Given the description of an element on the screen output the (x, y) to click on. 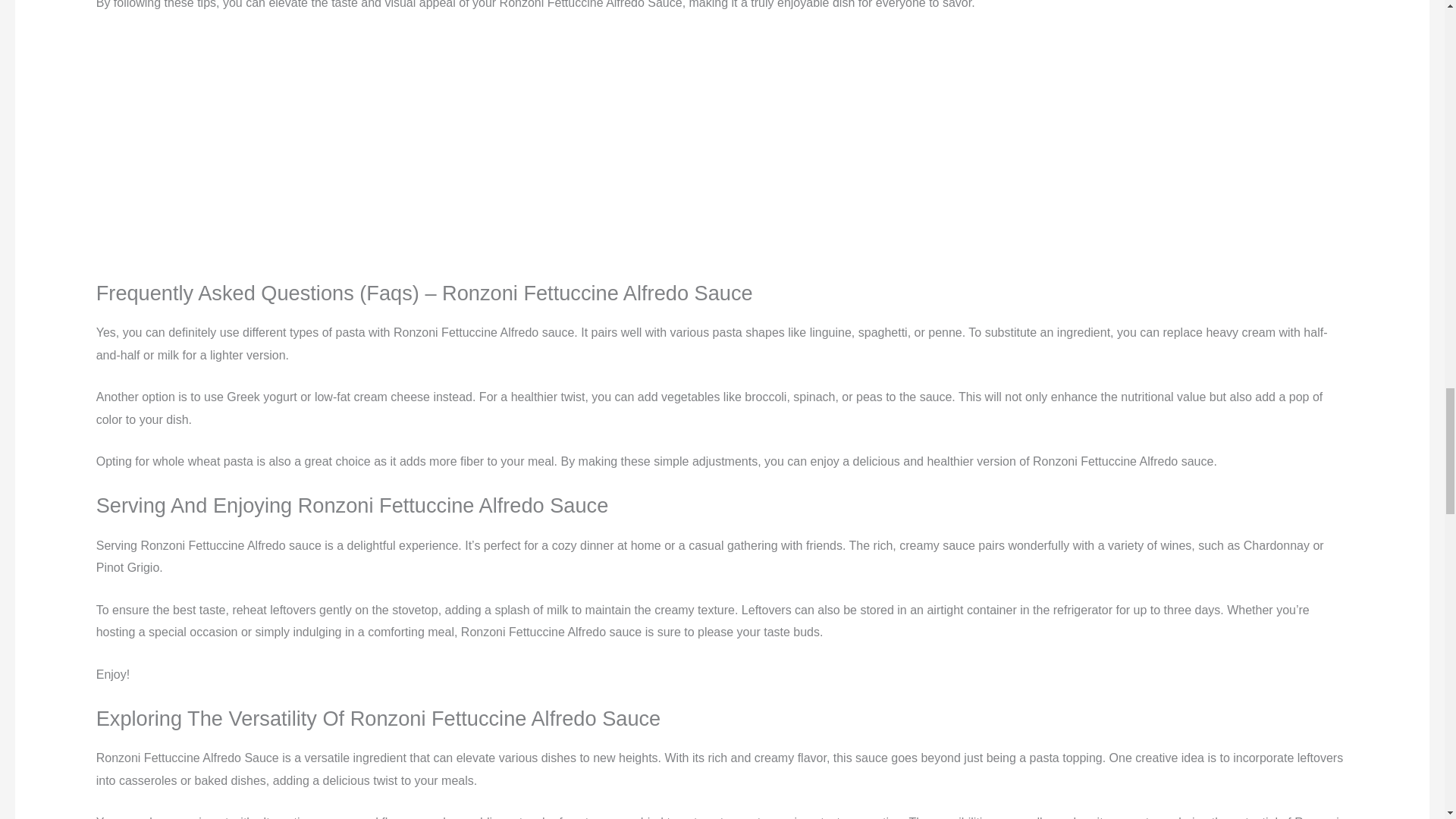
YouTube video player (721, 152)
